Given the description of an element on the screen output the (x, y) to click on. 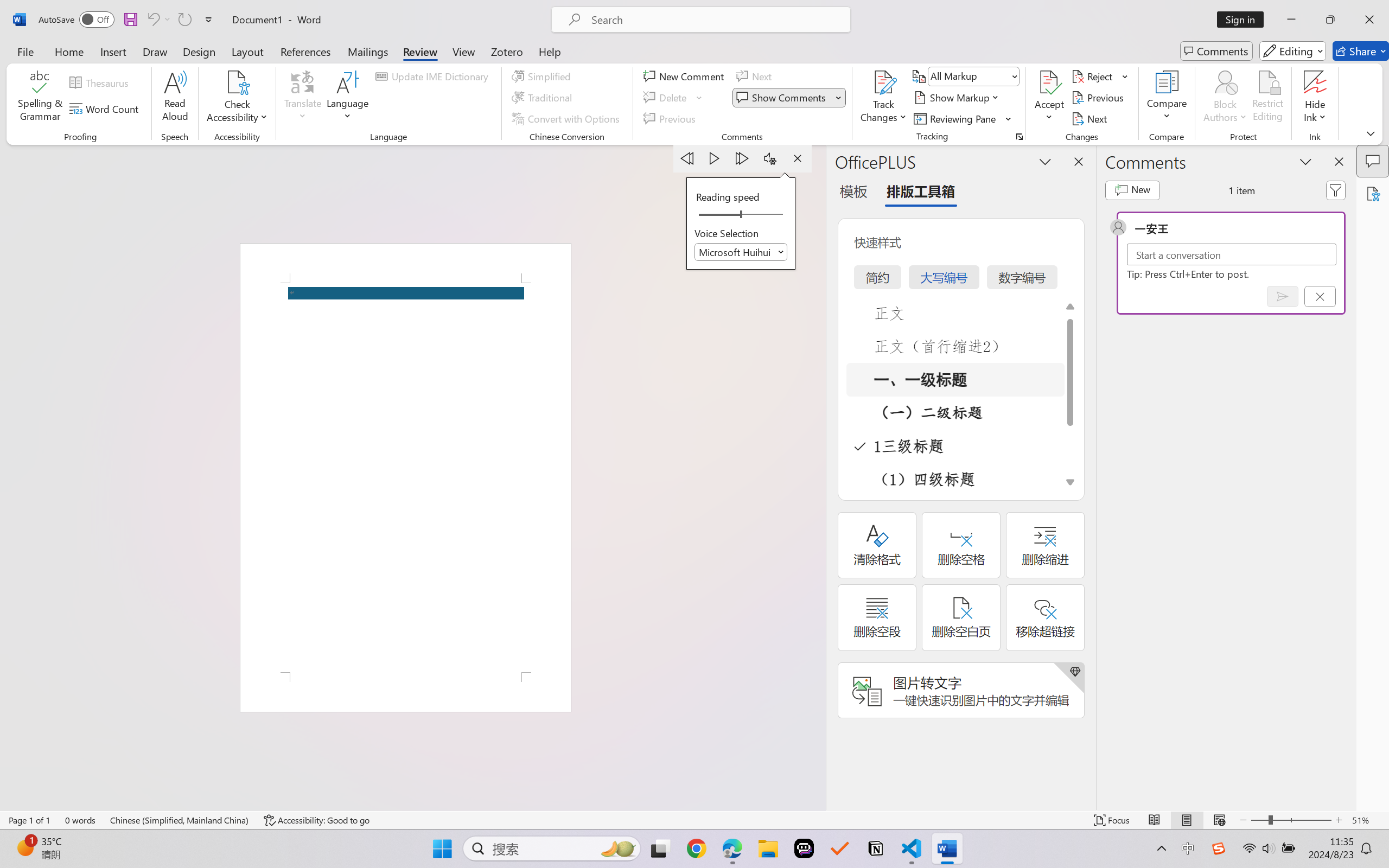
Traditional (543, 97)
Play (715, 158)
Word Count (105, 108)
Sign in (1244, 19)
Track Changes (883, 97)
Stop (797, 158)
Page left (716, 214)
